Given the description of an element on the screen output the (x, y) to click on. 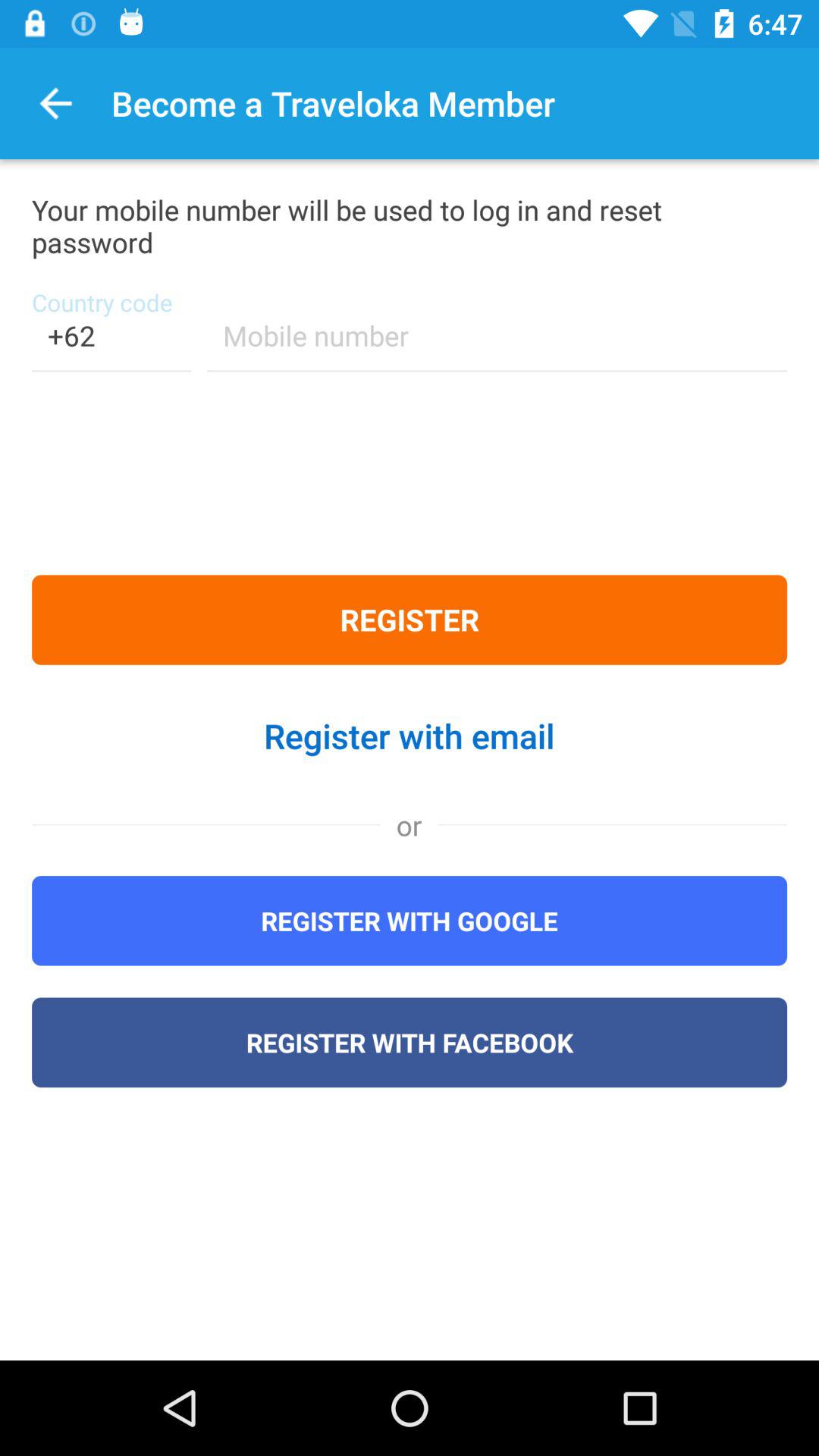
click the item to the right of +62 (497, 345)
